Given the description of an element on the screen output the (x, y) to click on. 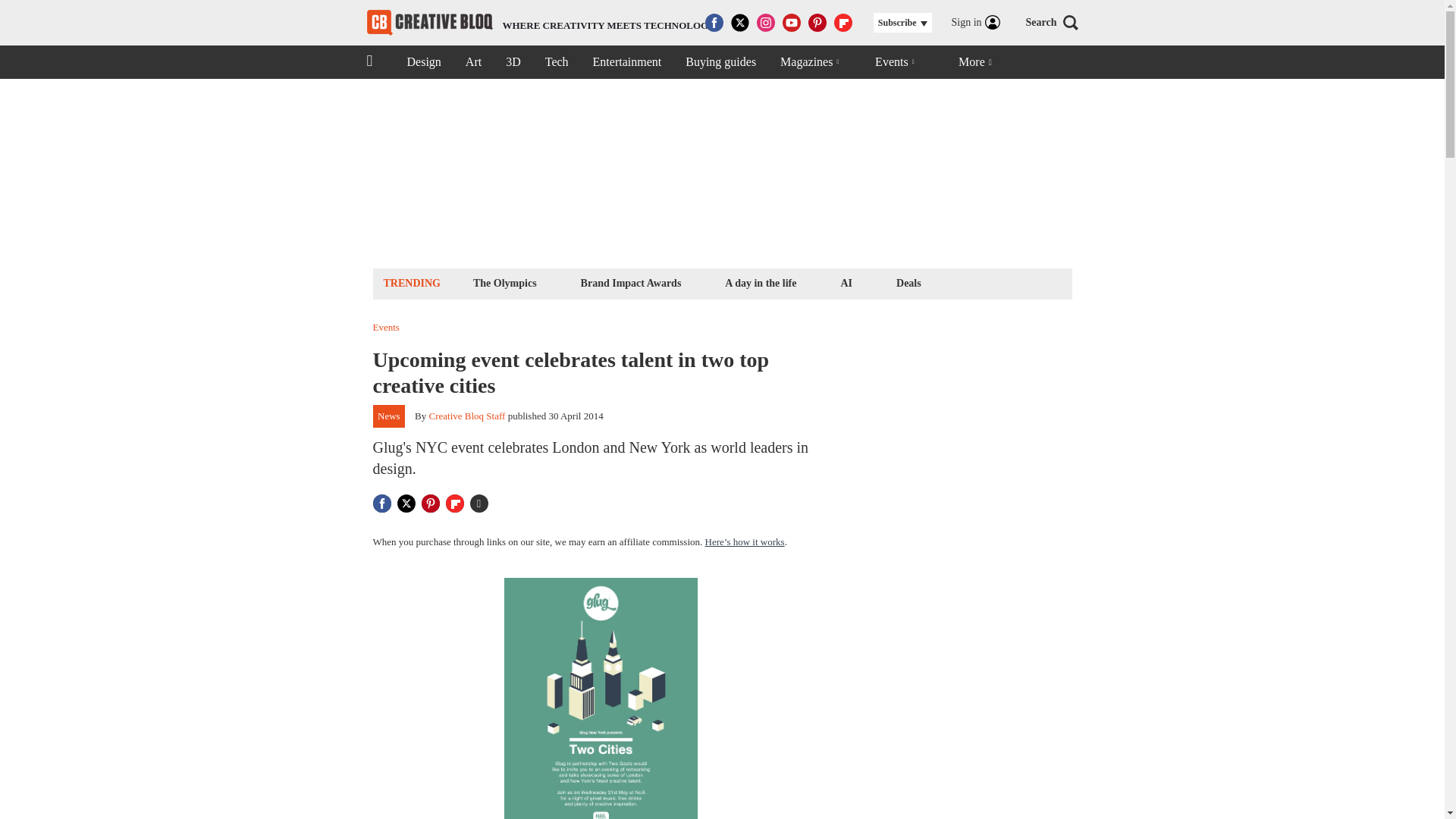
News (389, 415)
Buying guides (720, 61)
The Olympics (504, 282)
Brand Impact Awards (631, 282)
3D (512, 61)
Creative Bloq (429, 22)
Entertainment (627, 61)
Creative Bloq Staff (467, 415)
Deals (908, 282)
Art (472, 61)
AI (845, 282)
Tech (541, 22)
Design (556, 61)
Events (423, 61)
